Given the description of an element on the screen output the (x, y) to click on. 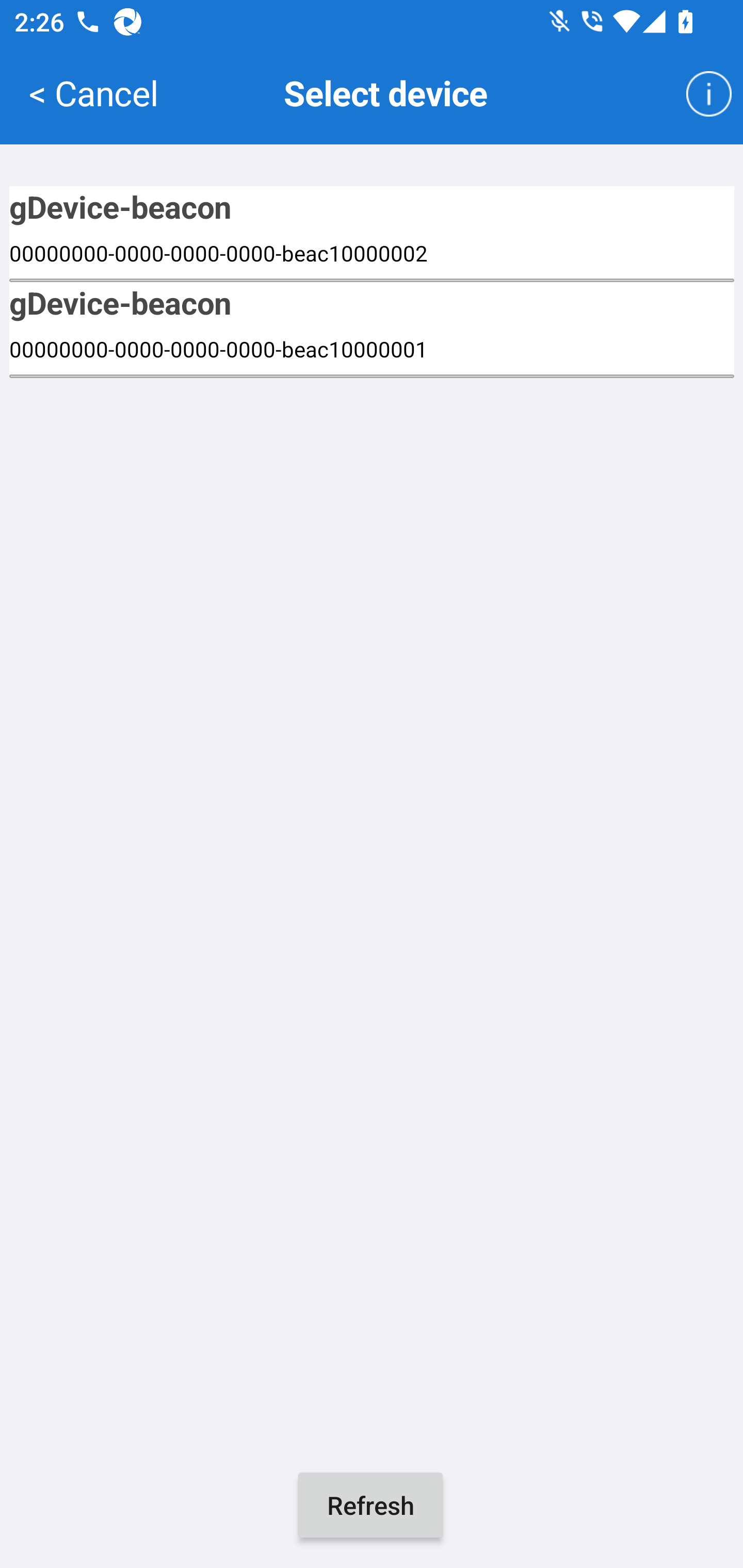
< Cancel (93, 92)
Refresh (370, 1505)
